Given the description of an element on the screen output the (x, y) to click on. 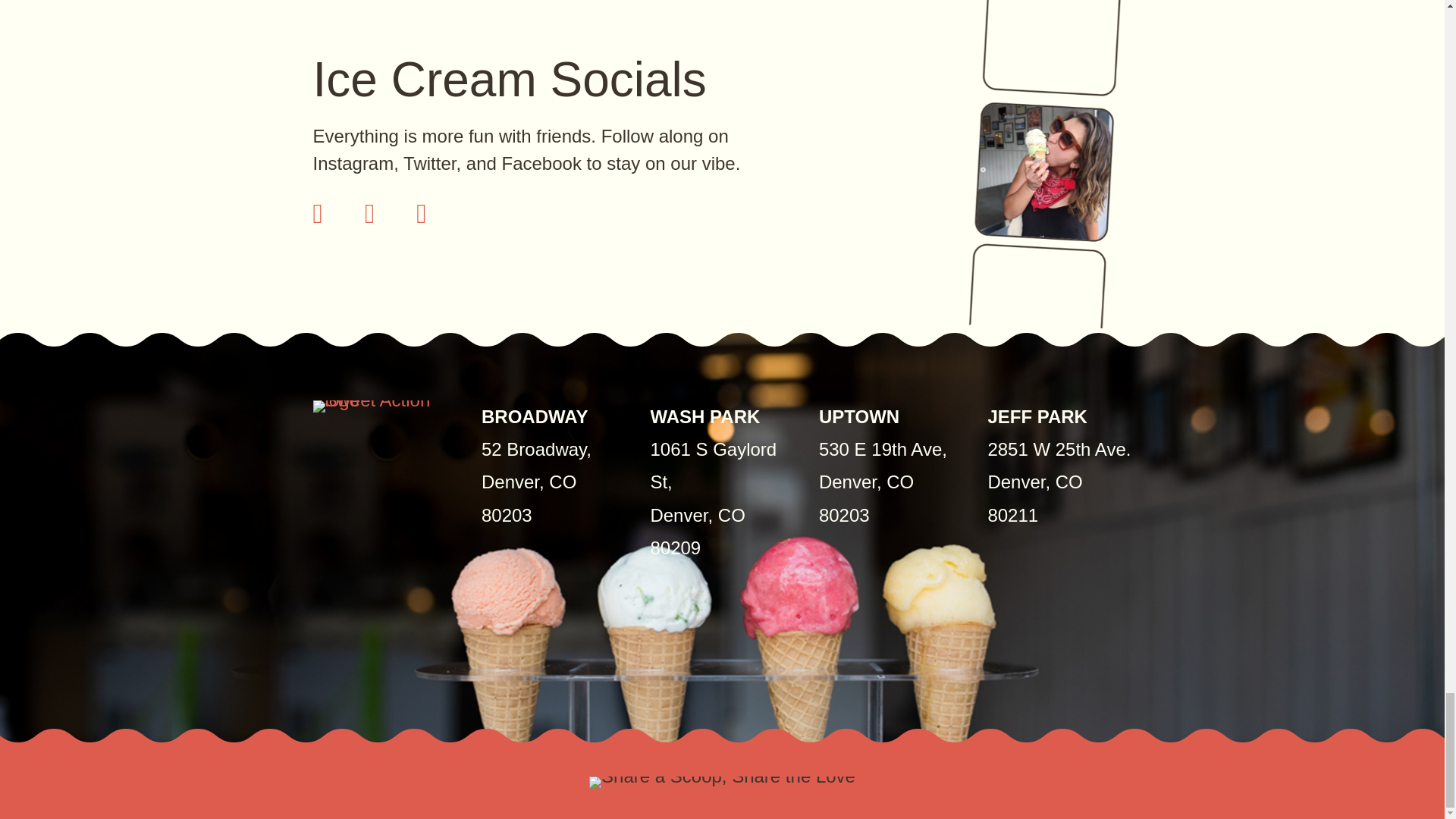
Sweet Action logo (385, 406)
Share a Scoop, Share the Love (722, 782)
